Given the description of an element on the screen output the (x, y) to click on. 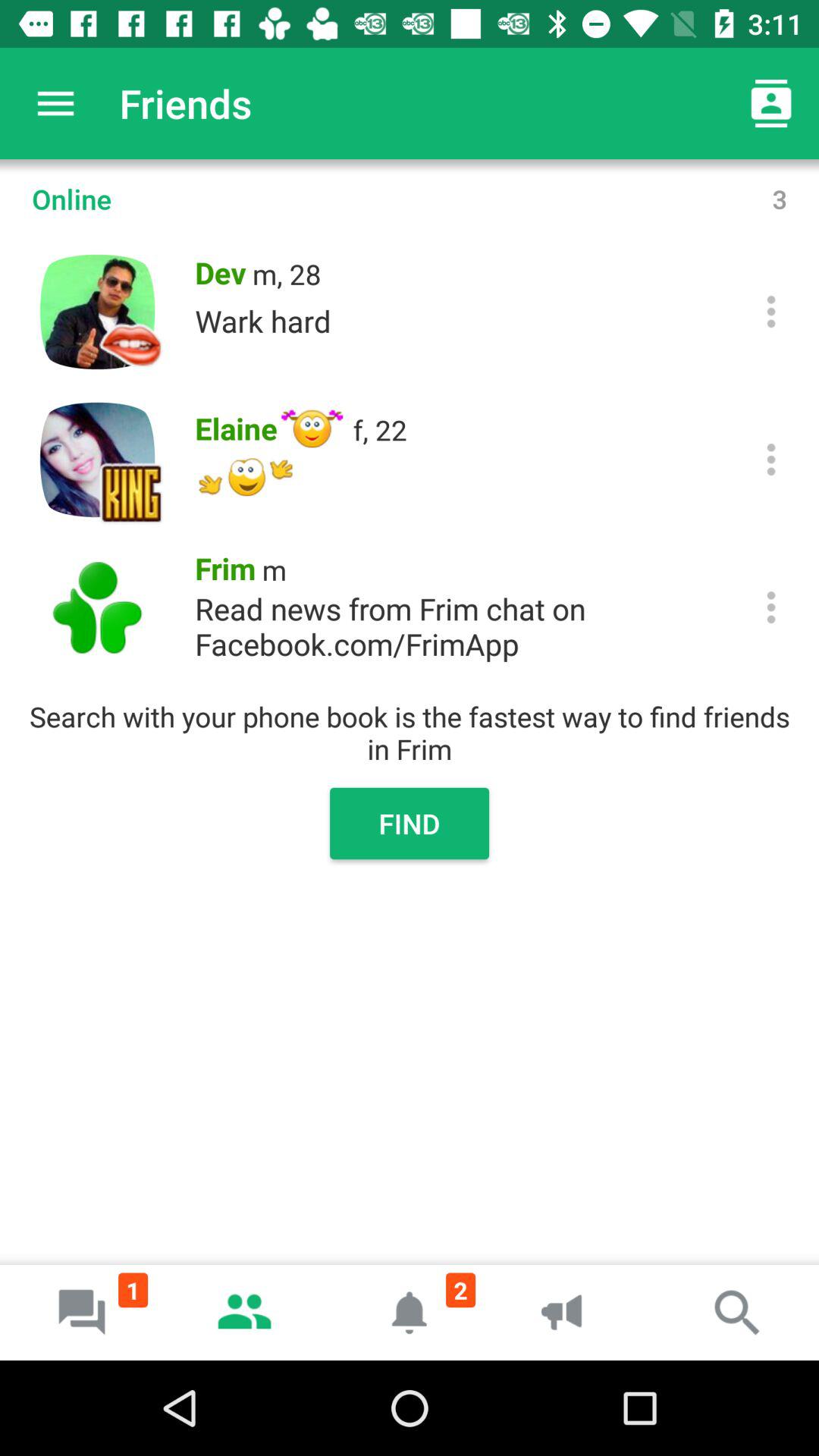
more settings (771, 459)
